Given the description of an element on the screen output the (x, y) to click on. 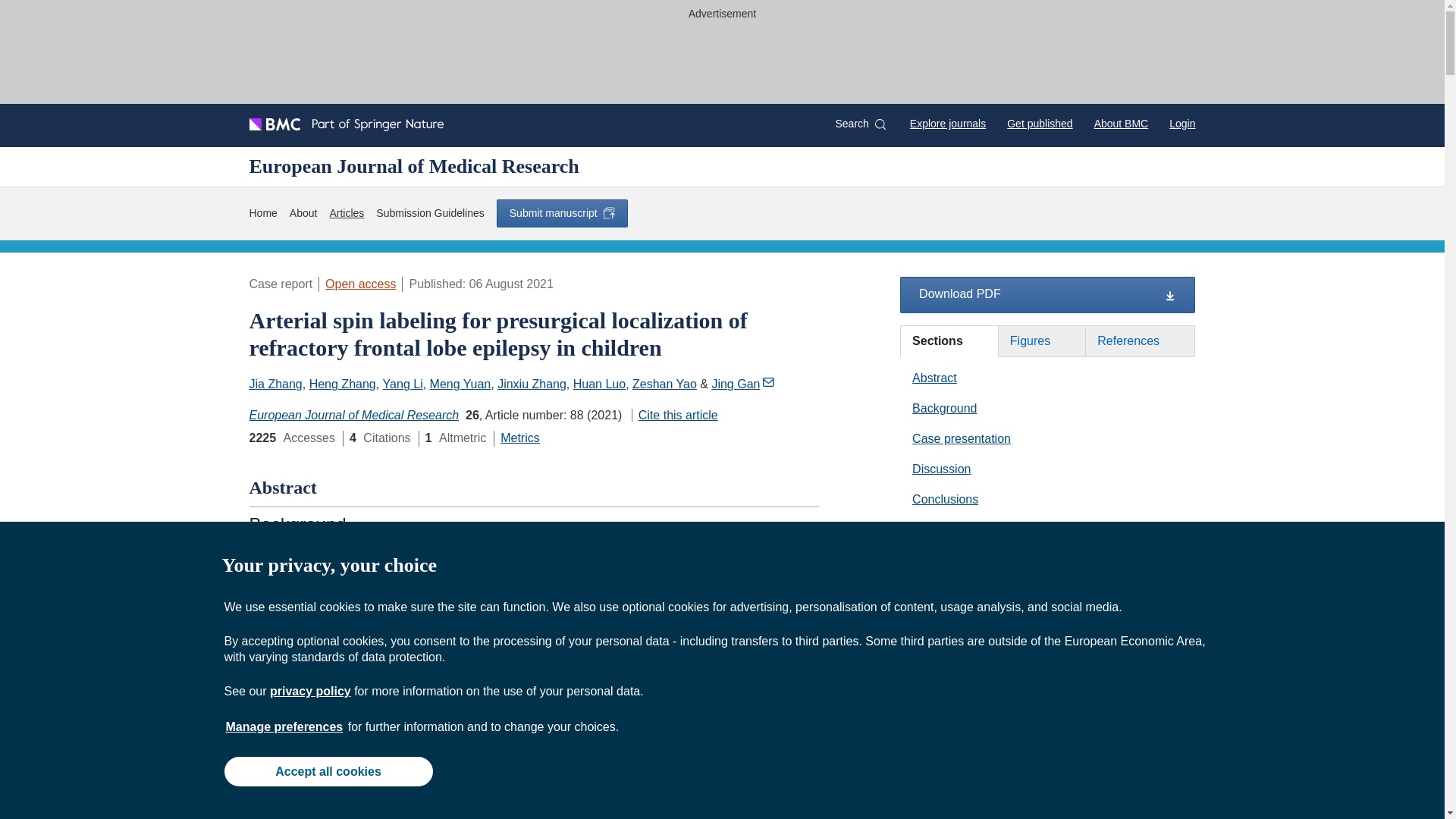
Accept all cookies (328, 771)
Meng Yuan (460, 383)
Submission Guidelines (429, 212)
About (303, 212)
Manage preferences (284, 726)
privacy policy (309, 690)
Login (1182, 123)
Jia Zhang (274, 383)
Explore journals (947, 123)
Home (262, 212)
